Given the description of an element on the screen output the (x, y) to click on. 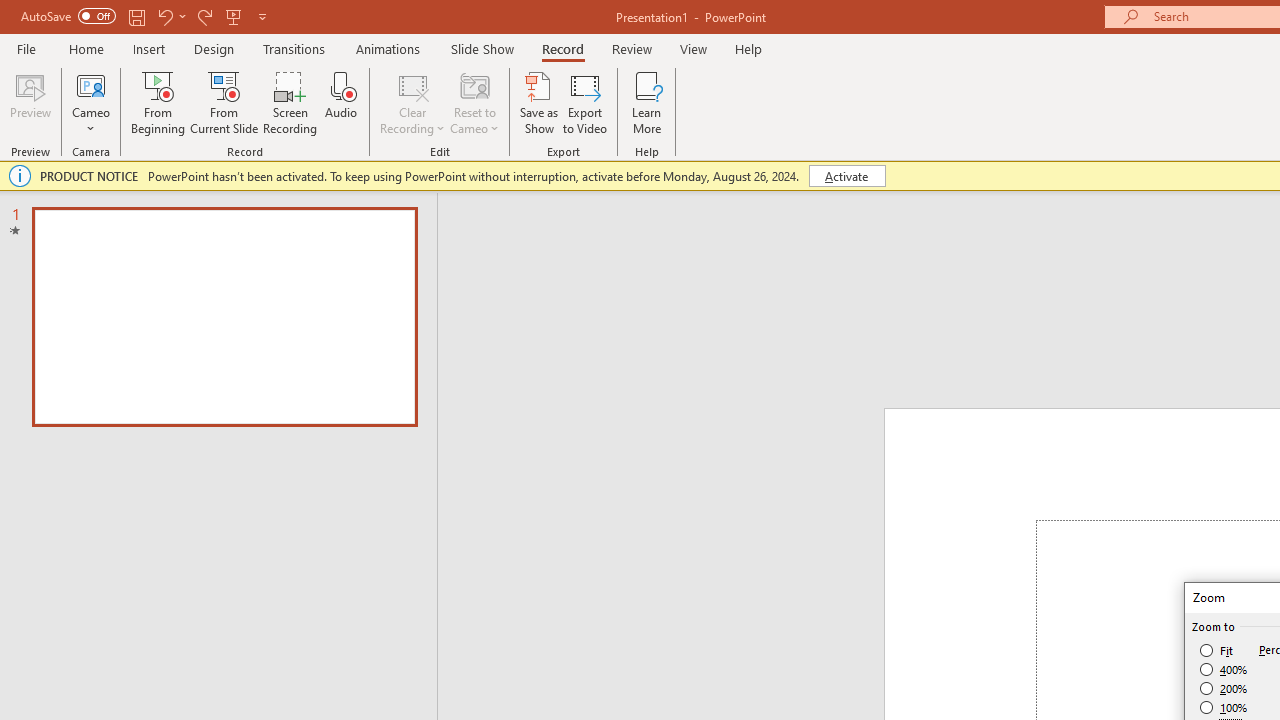
From Current Slide... (224, 102)
Clear Recording (412, 102)
100% (1224, 707)
Save as Show (539, 102)
Learn More (646, 102)
